Given the description of an element on the screen output the (x, y) to click on. 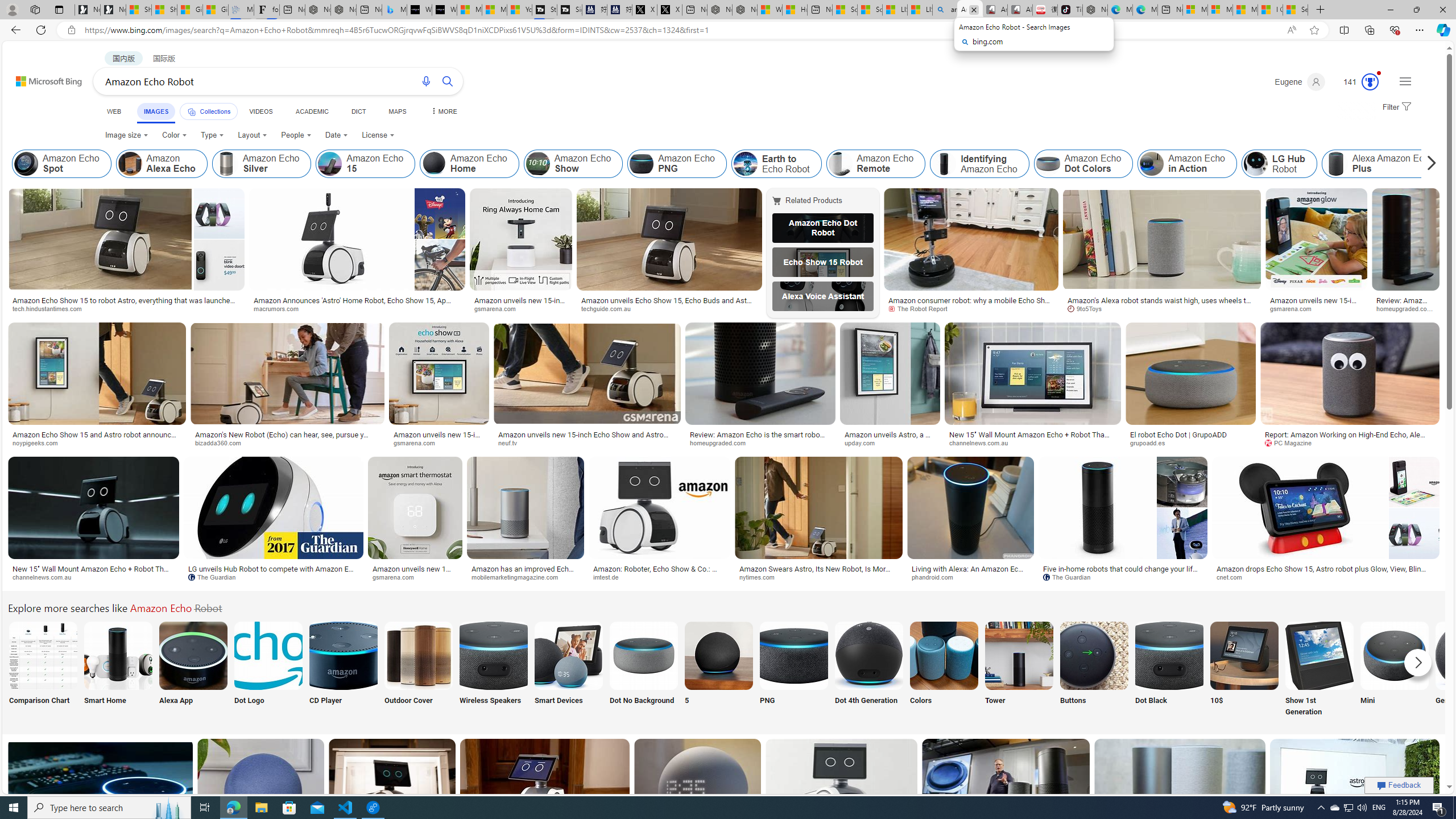
Dropdown Menu (443, 111)
Outdoor Cover (418, 669)
imtest.de (658, 576)
Image size (127, 135)
Search using voice (426, 80)
Microsoft account | Privacy (1219, 9)
Amazon Echo Remote (840, 163)
Amazon Echo PNG PNG (794, 669)
macrumors.com (356, 308)
